Given the description of an element on the screen output the (x, y) to click on. 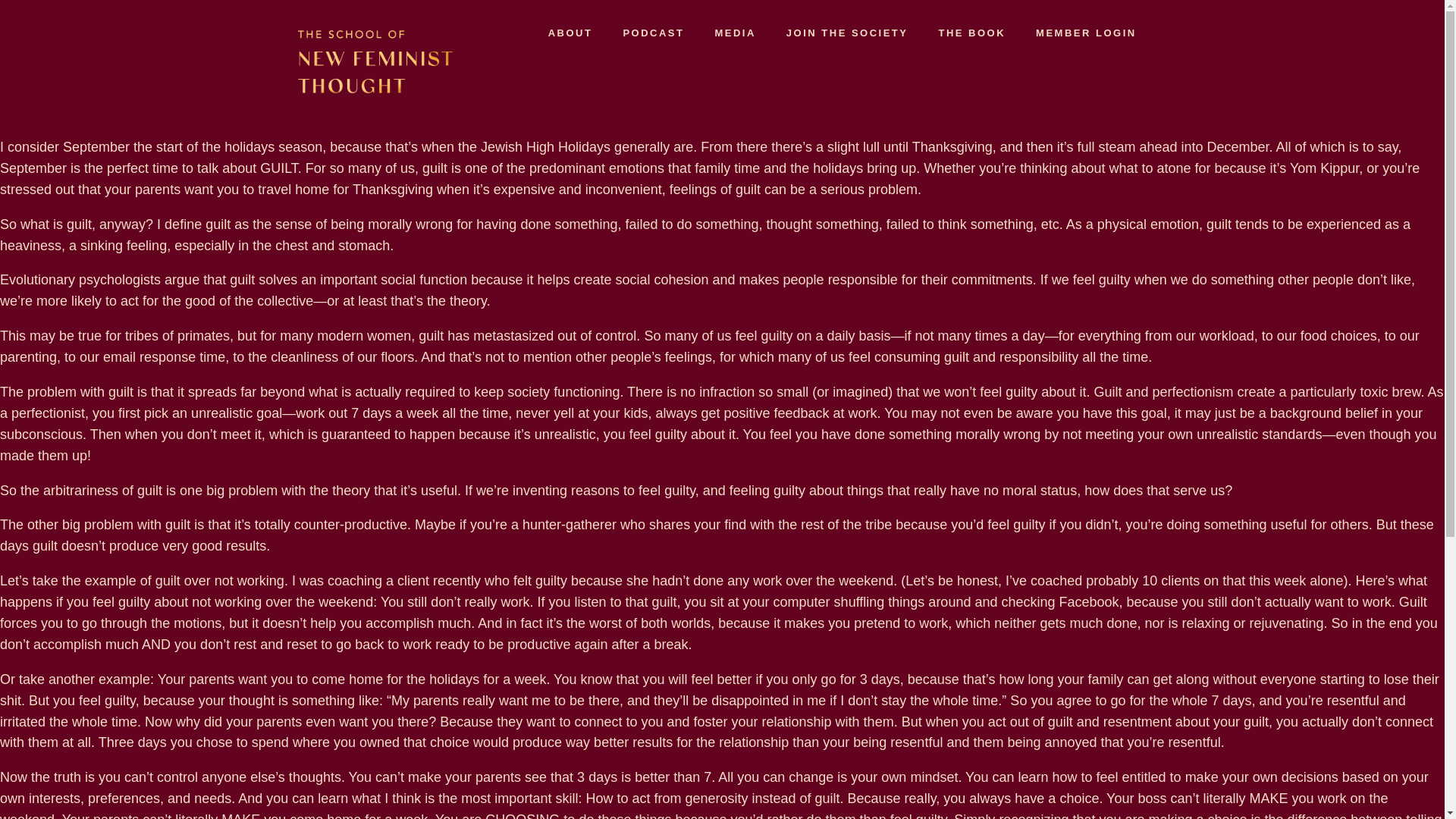
ABOUT (570, 32)
MEMBER LOGIN (1085, 32)
JOIN THE SOCIETY (847, 32)
PODCAST (652, 32)
MEDIA (734, 32)
THE BOOK (971, 32)
